Given the description of an element on the screen output the (x, y) to click on. 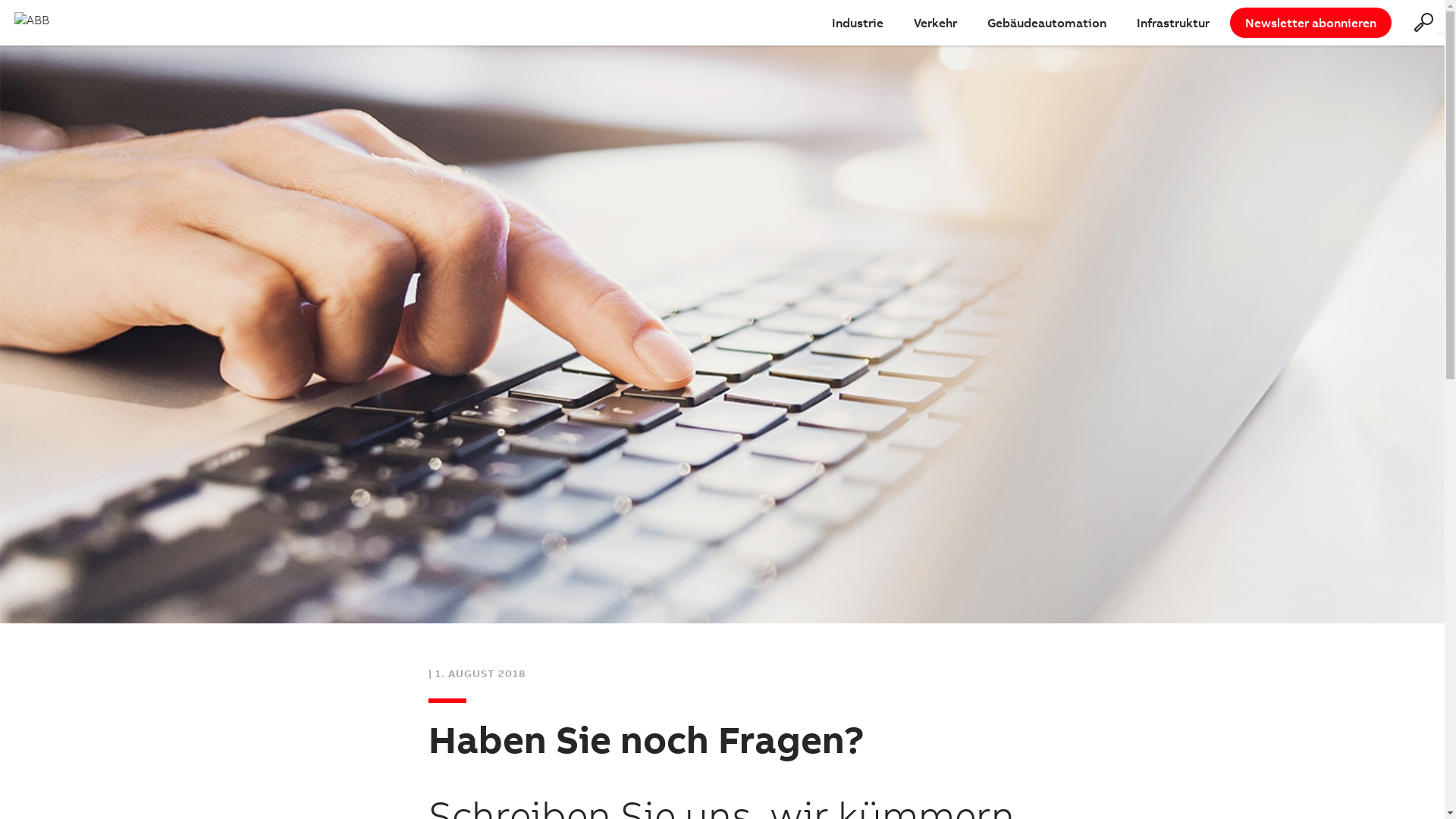
Newsletter abonnieren Element type: text (1310, 22)
Infrastruktur Element type: text (1172, 22)
Industrie Element type: text (857, 22)
Verkehr Element type: text (935, 22)
